Given the description of an element on the screen output the (x, y) to click on. 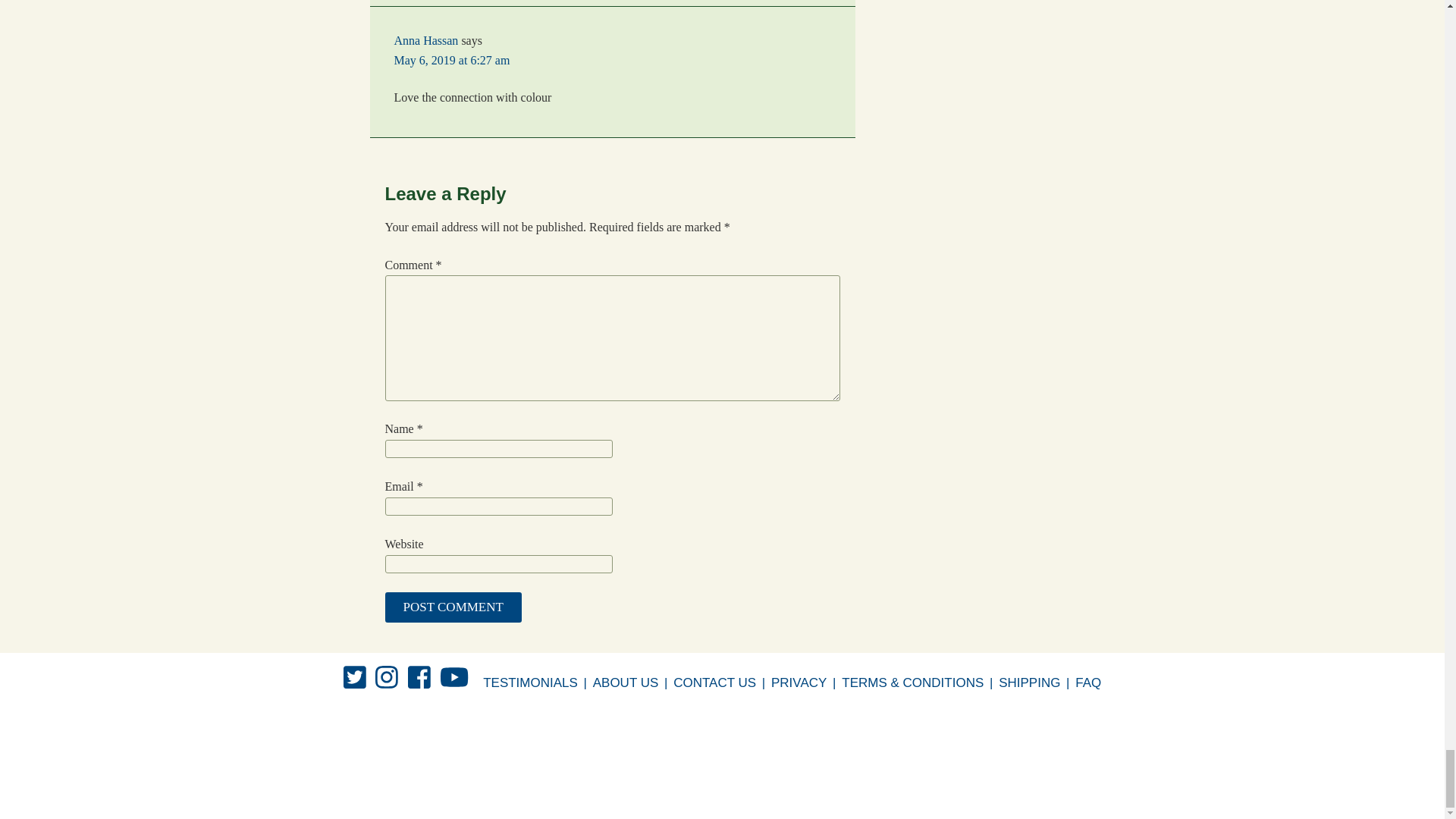
Post Comment (453, 607)
Privacy Policy (799, 682)
